Given the description of an element on the screen output the (x, y) to click on. 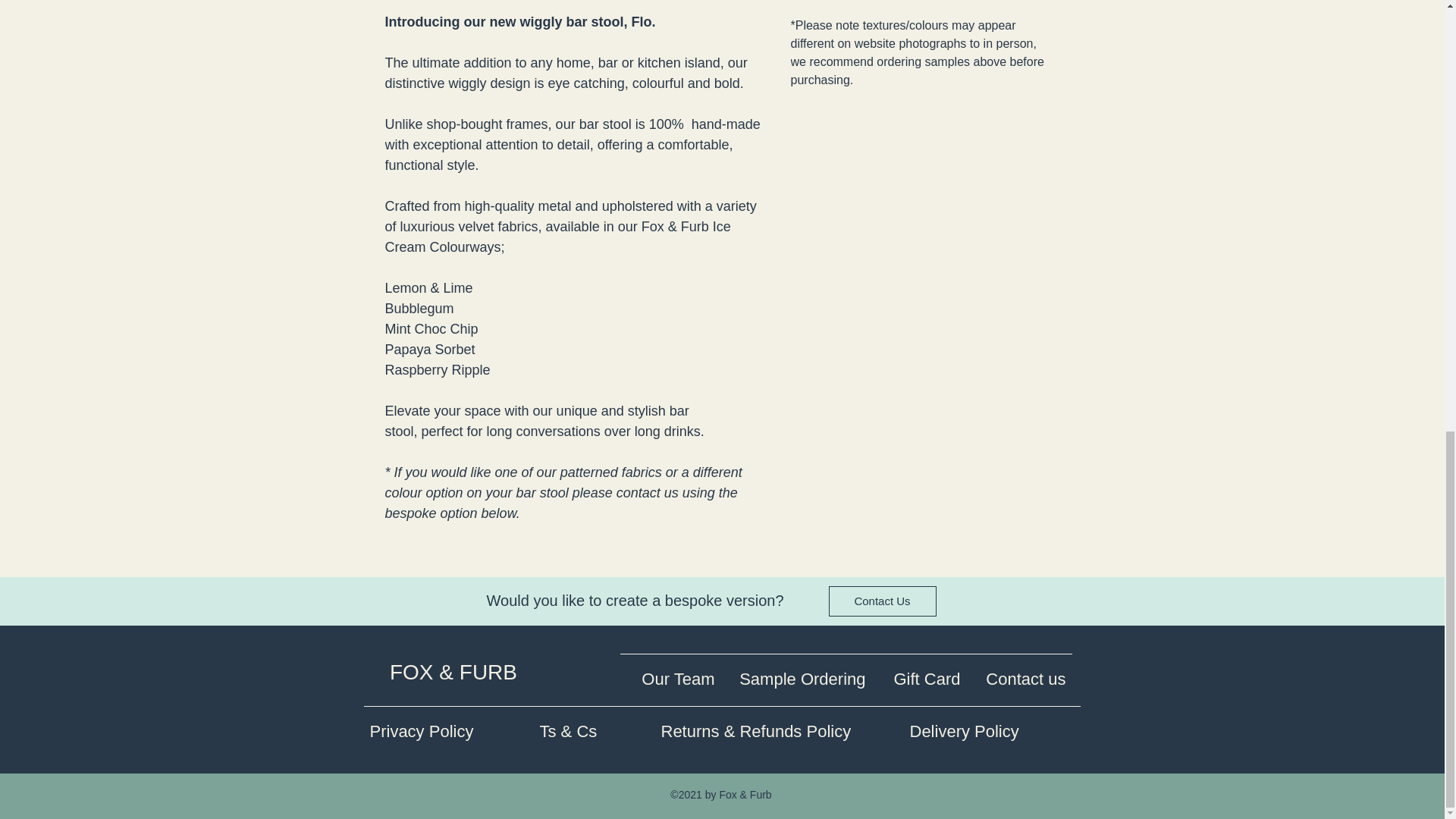
Delivery Policy (992, 724)
Contact Us (882, 601)
Privacy Policy (449, 724)
Gift Card (919, 672)
Our Team (670, 672)
Sample Ordering (795, 672)
Contact us (1018, 672)
